Given the description of an element on the screen output the (x, y) to click on. 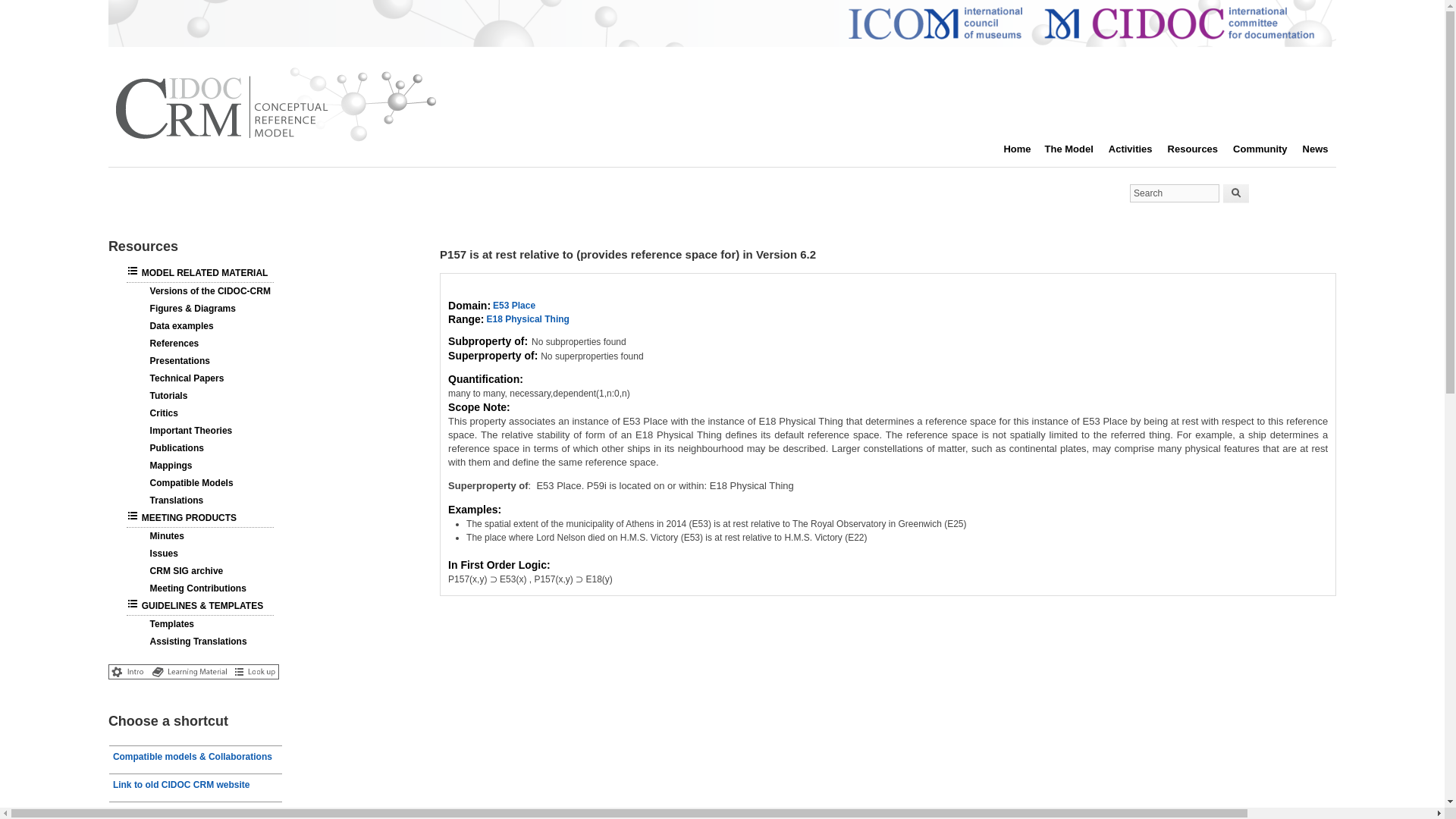
Technical Papers (179, 378)
Critics (156, 412)
Publications (169, 448)
Next meeting (195, 810)
Assisting Translations (191, 641)
Search (1236, 193)
News (1323, 149)
Community (1268, 149)
Presentations (172, 360)
Translations (169, 500)
Issues (156, 552)
Home (274, 141)
Compatible Models (183, 482)
E53 Place (514, 305)
Data examples (174, 326)
